Given the description of an element on the screen output the (x, y) to click on. 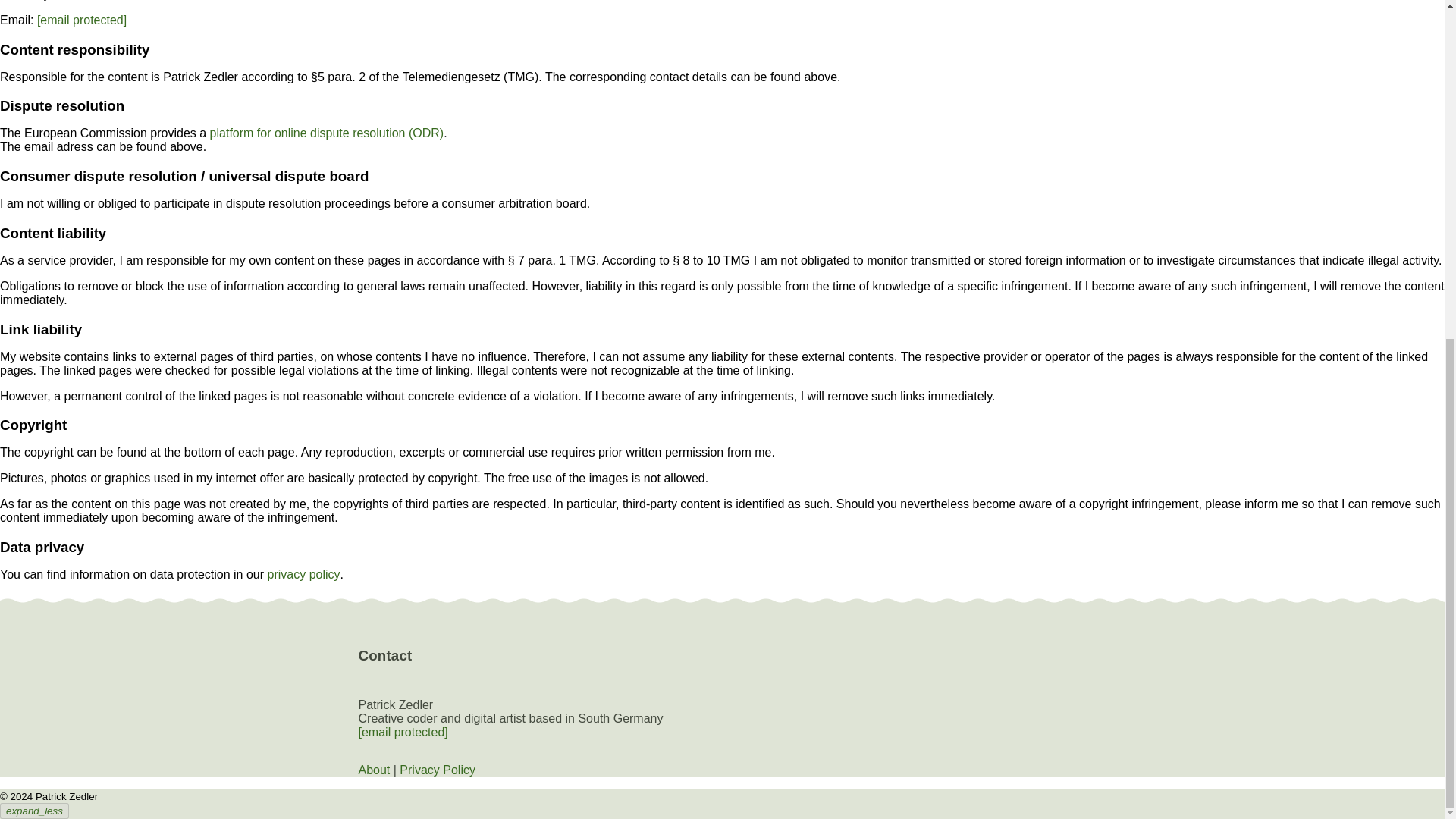
privacy policy (303, 574)
Privacy Policy (437, 769)
About (374, 769)
